Given the description of an element on the screen output the (x, y) to click on. 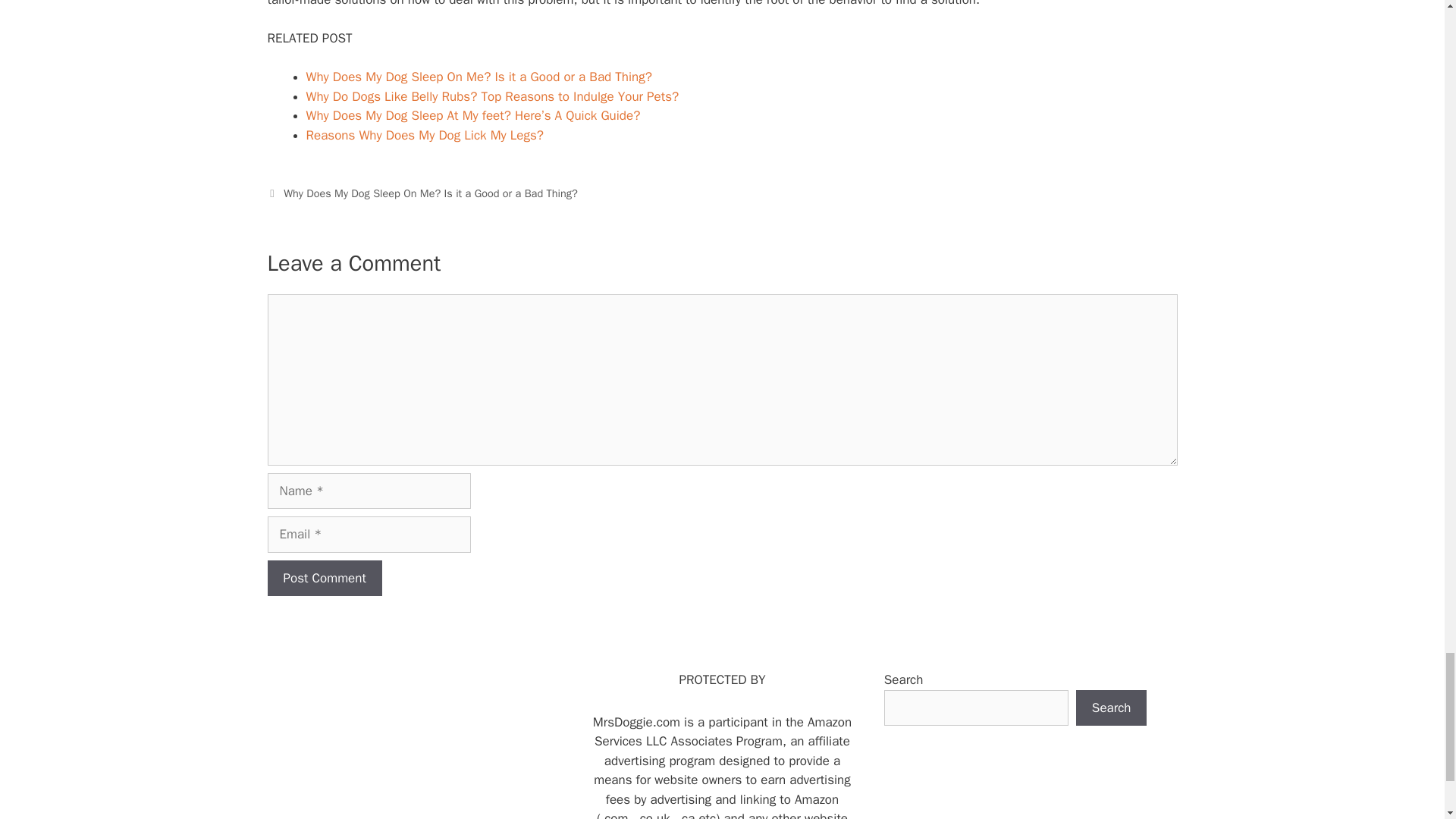
Post Comment (323, 578)
